Given the description of an element on the screen output the (x, y) to click on. 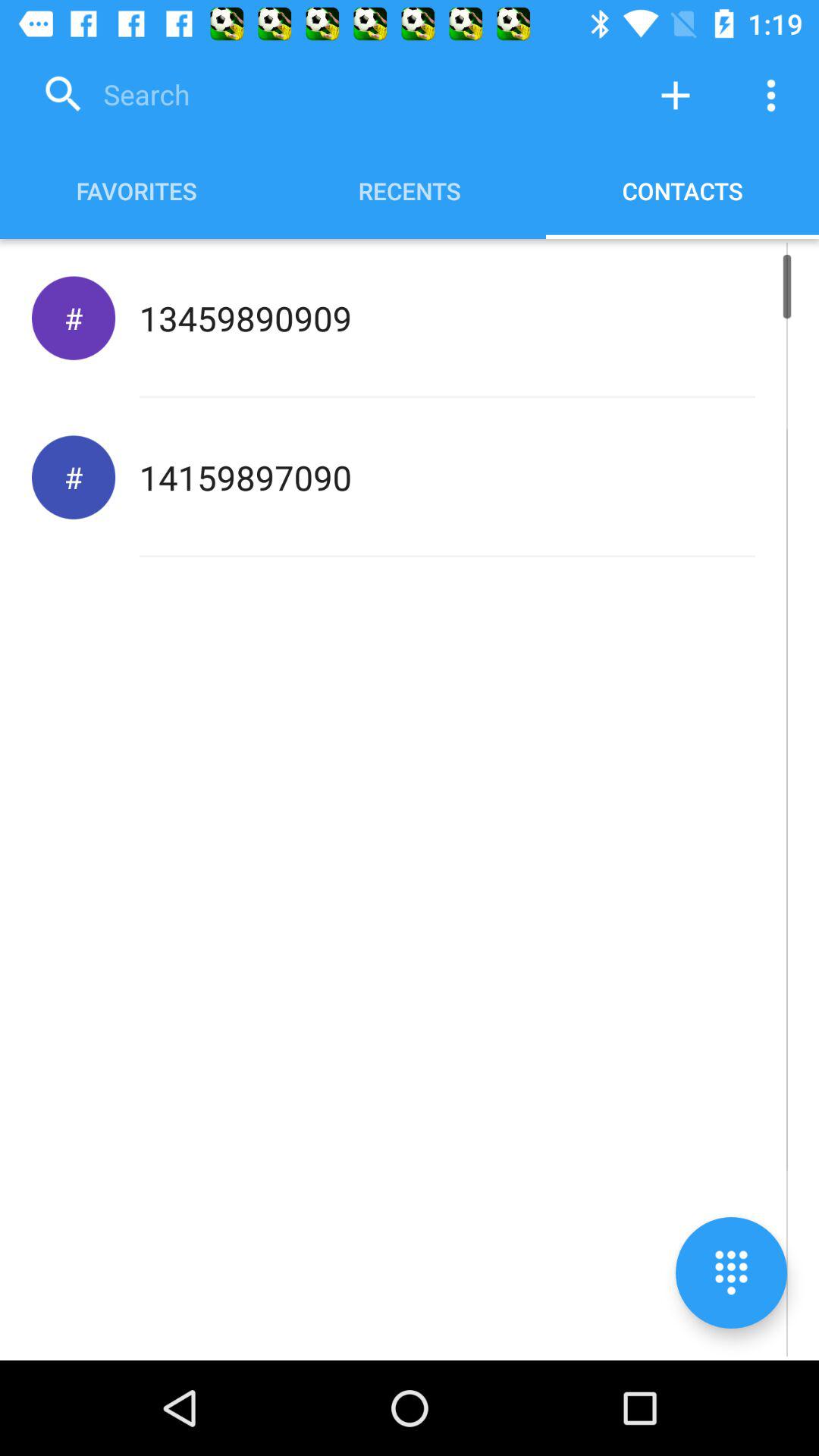
search query (329, 95)
